Given the description of an element on the screen output the (x, y) to click on. 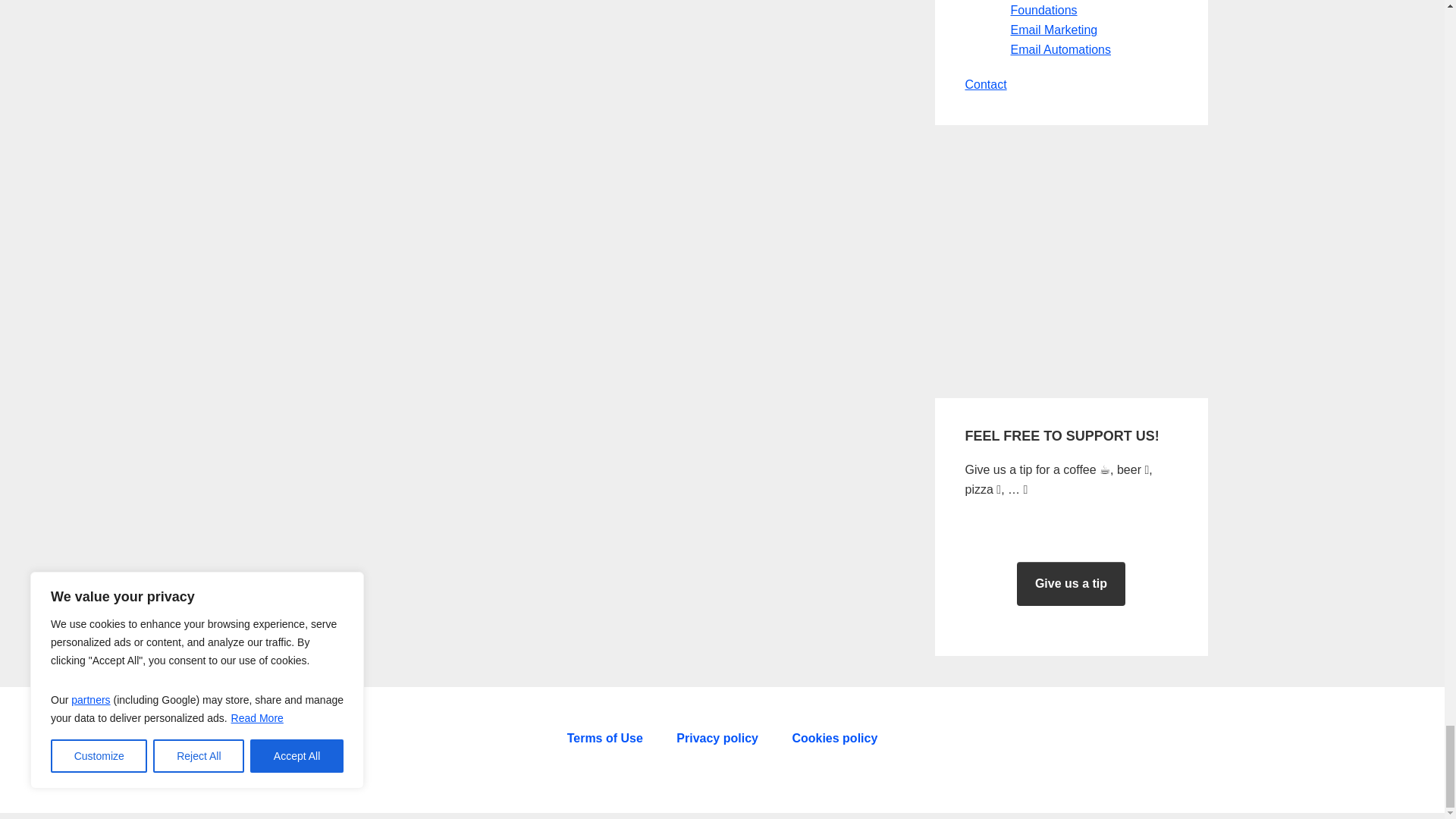
nofollow (834, 742)
nofollow (717, 742)
